Given the description of an element on the screen output the (x, y) to click on. 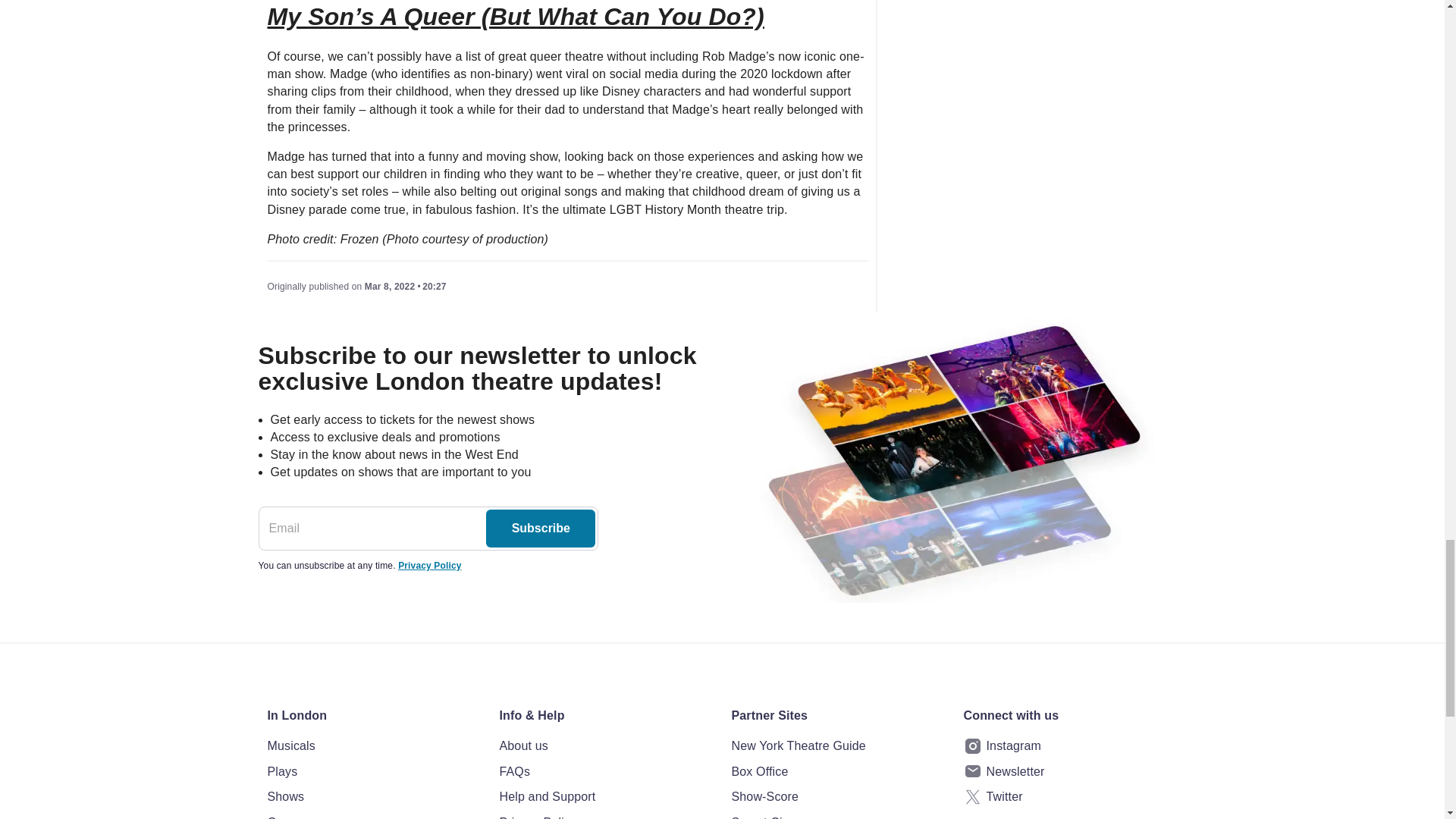
Musicals (373, 745)
Shows (373, 796)
Opera (373, 816)
Plays (373, 772)
About us (606, 745)
FAQs (606, 772)
